Given the description of an element on the screen output the (x, y) to click on. 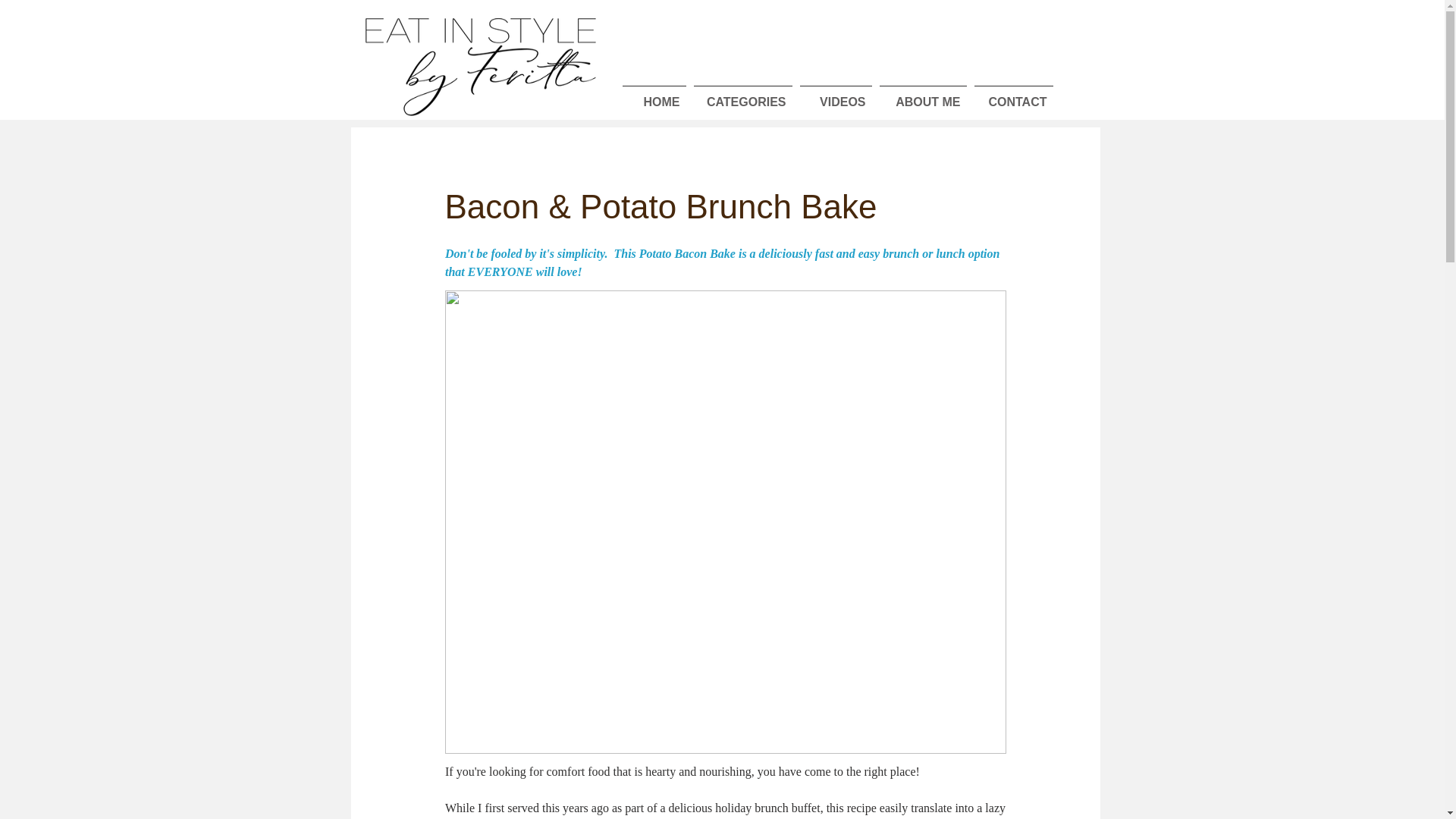
CONTACT (1014, 94)
VIDEOS (836, 94)
ABOUT ME (922, 94)
HOME (654, 94)
